Given the description of an element on the screen output the (x, y) to click on. 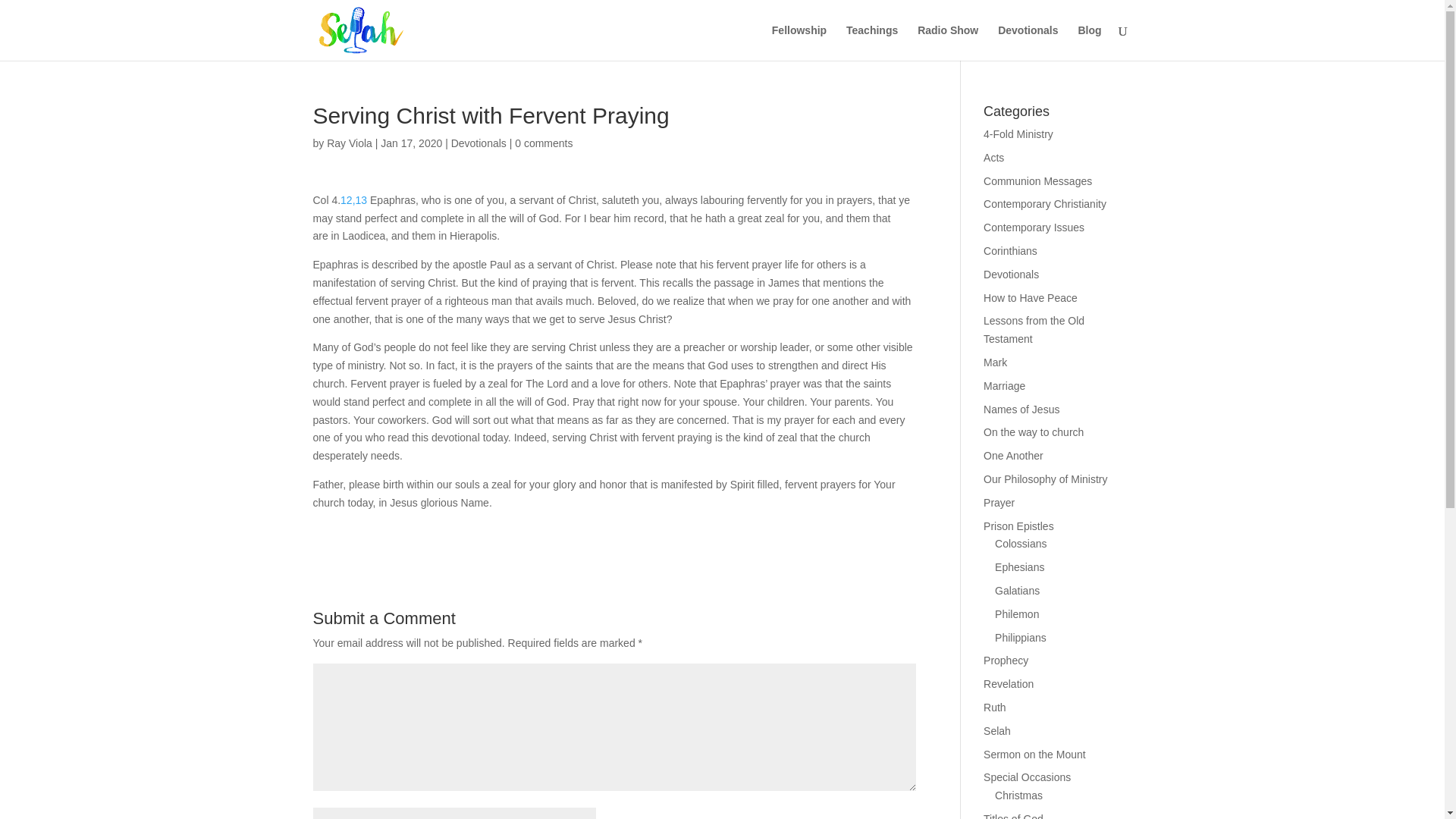
Colossians (1020, 543)
How to Have Peace (1030, 297)
Contemporary Issues (1034, 227)
Our Philosophy of Ministry (1045, 479)
One Another (1013, 455)
Acts (994, 157)
Fellowship (799, 42)
Posts by Ray Viola (349, 143)
Devotionals (478, 143)
Prayer (999, 502)
